Given the description of an element on the screen output the (x, y) to click on. 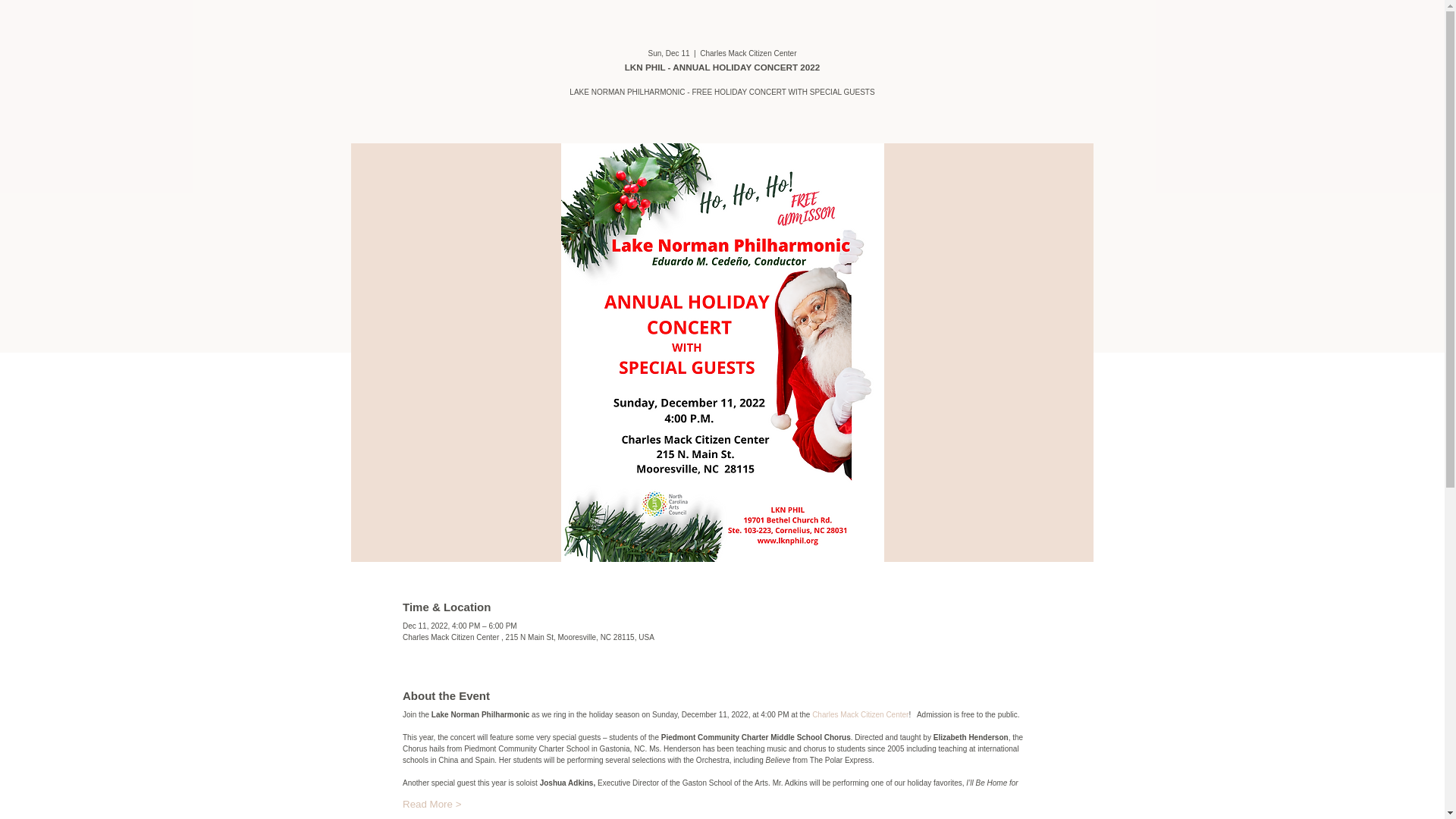
Charles Mack Citizen Center (860, 714)
Upcoming Events (974, 55)
lkn PHIL (419, 43)
Home (697, 55)
About Us (836, 55)
